Given the description of an element on the screen output the (x, y) to click on. 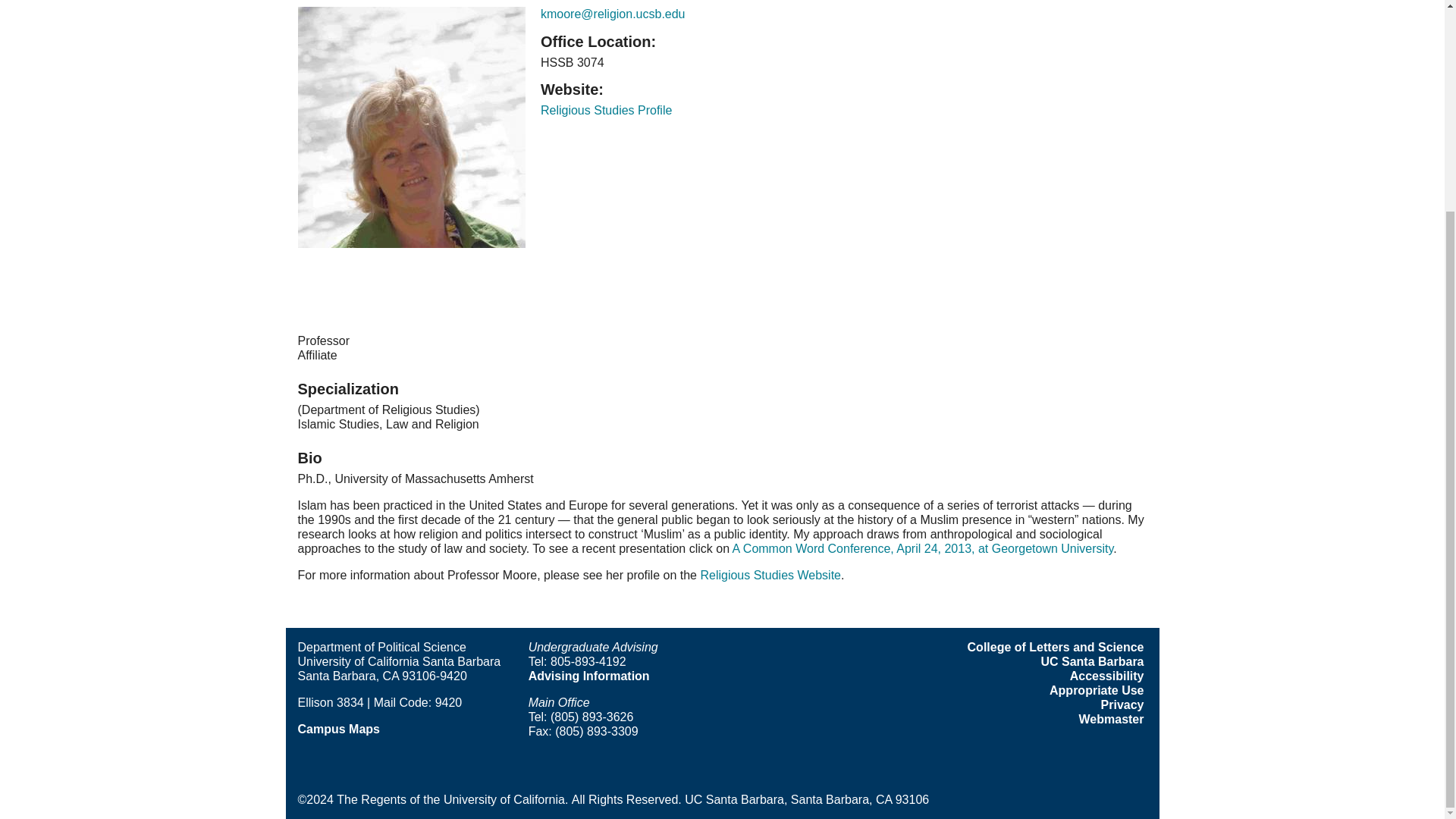
UC Santa Barbara (1091, 661)
Accessibility (1107, 675)
Advising Information (588, 675)
Webmaster (1111, 718)
College of Letters and Science (1056, 646)
Appropriate Use (1095, 689)
UC Santa Barbara (1091, 661)
Religious Studies Profile (605, 110)
Accessibility (1107, 675)
